Given the description of an element on the screen output the (x, y) to click on. 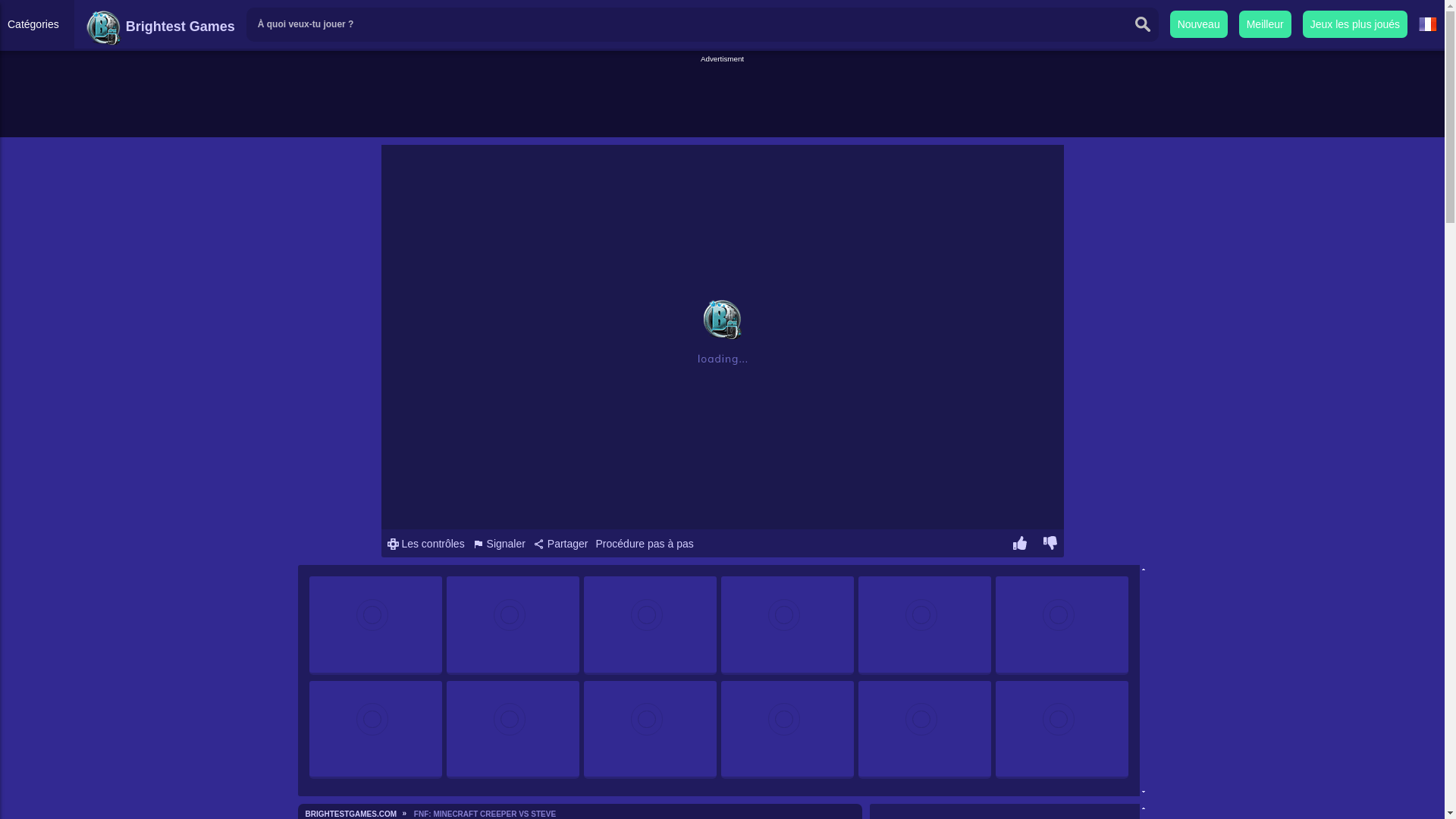
Meilleur (1265, 23)
Brightest Games (159, 26)
Nouveau (1198, 23)
Nouveau (1198, 23)
Meilleur (1265, 23)
